Given the description of an element on the screen output the (x, y) to click on. 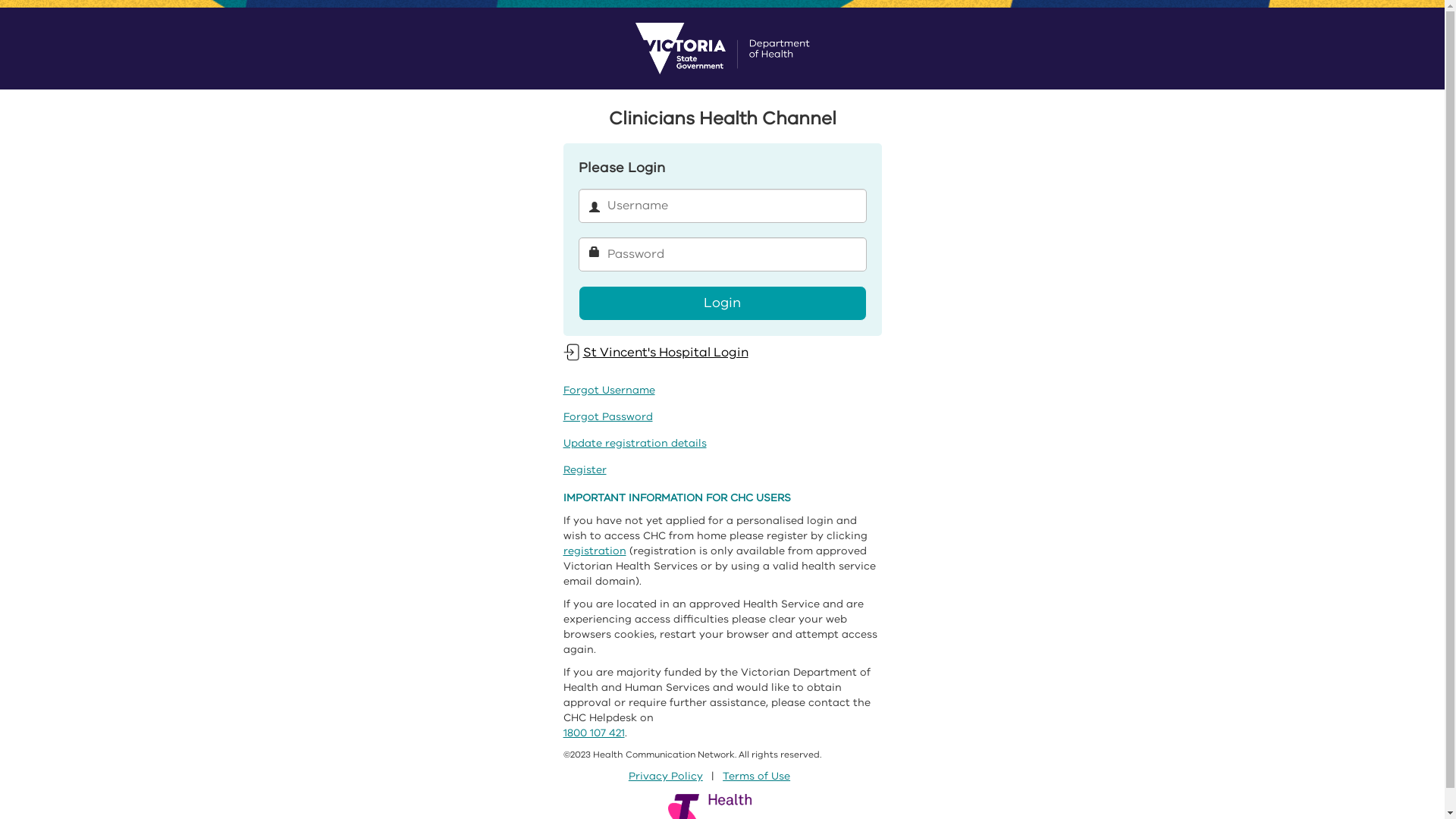
Forgot Username Element type: text (608, 389)
Register Element type: text (583, 469)
Forgot Password Element type: text (607, 416)
Terms of Use Element type: text (756, 775)
Privacy Policy Element type: text (665, 775)
Login Element type: text (721, 302)
1800 107 421 Element type: text (593, 732)
registration Element type: text (593, 550)
Update registration details Element type: text (634, 443)
St Vincent's Hospital Login Element type: text (654, 351)
